Given the description of an element on the screen output the (x, y) to click on. 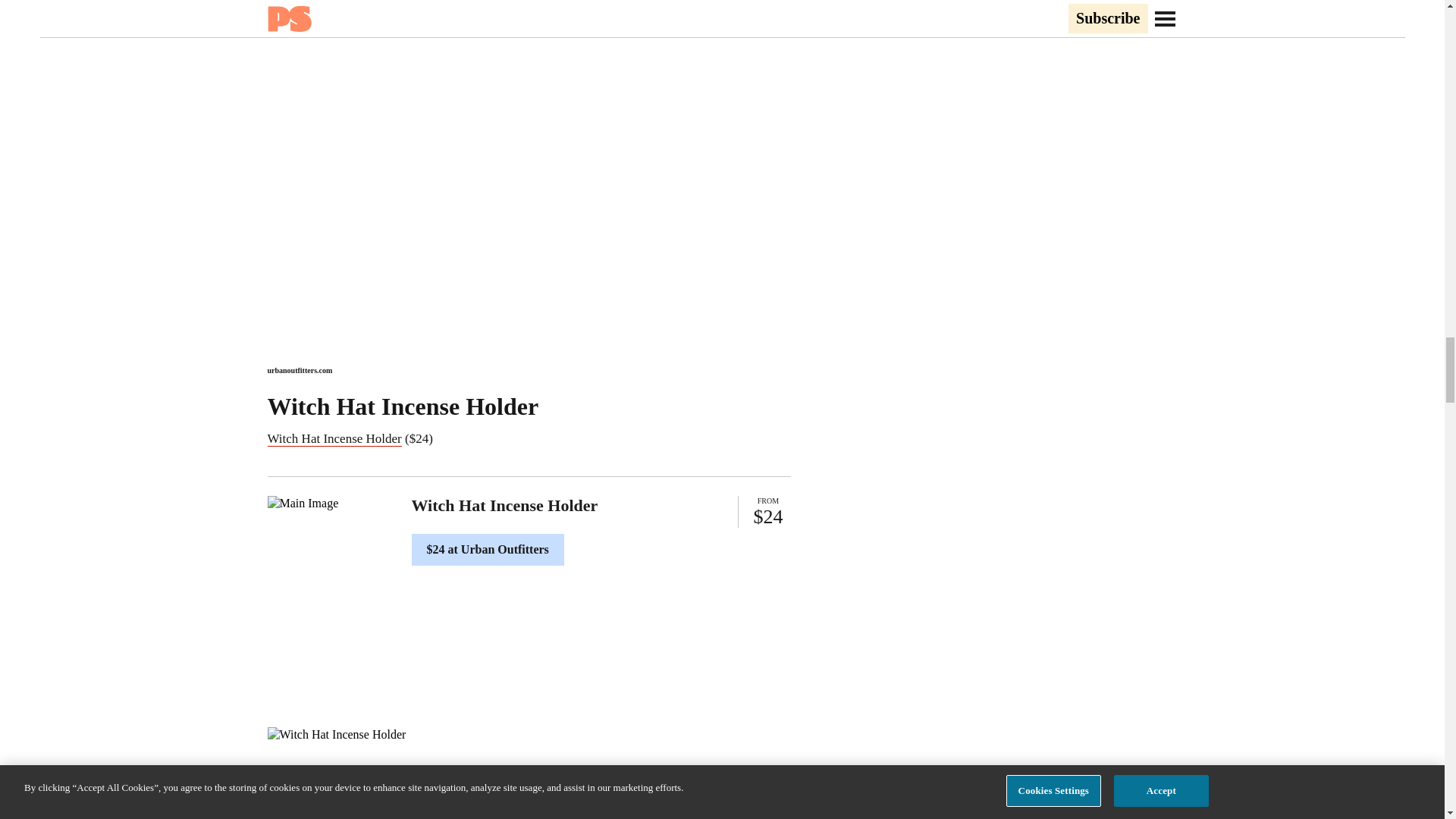
Witch Hat Incense Holder (333, 438)
urbanoutfitters.com (298, 370)
